Given the description of an element on the screen output the (x, y) to click on. 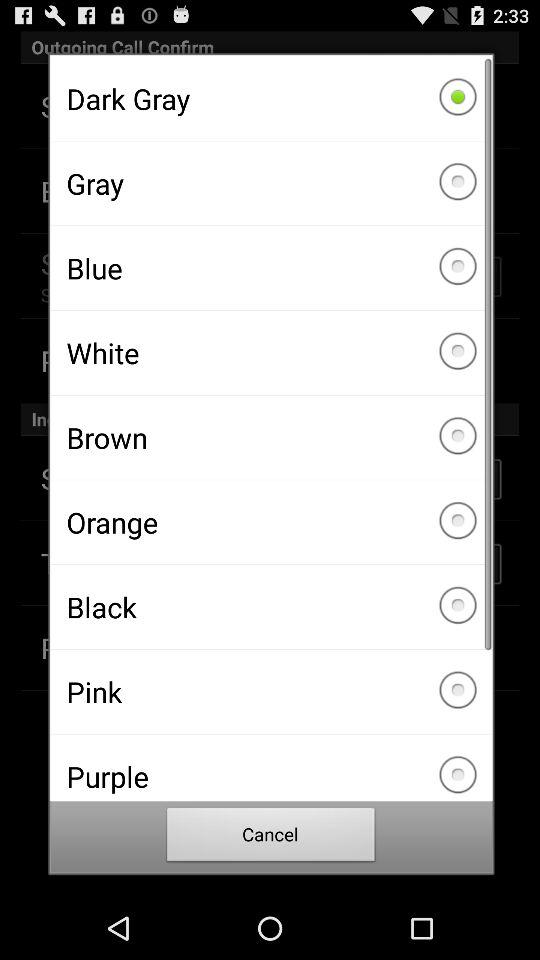
scroll to cancel (271, 837)
